Given the description of an element on the screen output the (x, y) to click on. 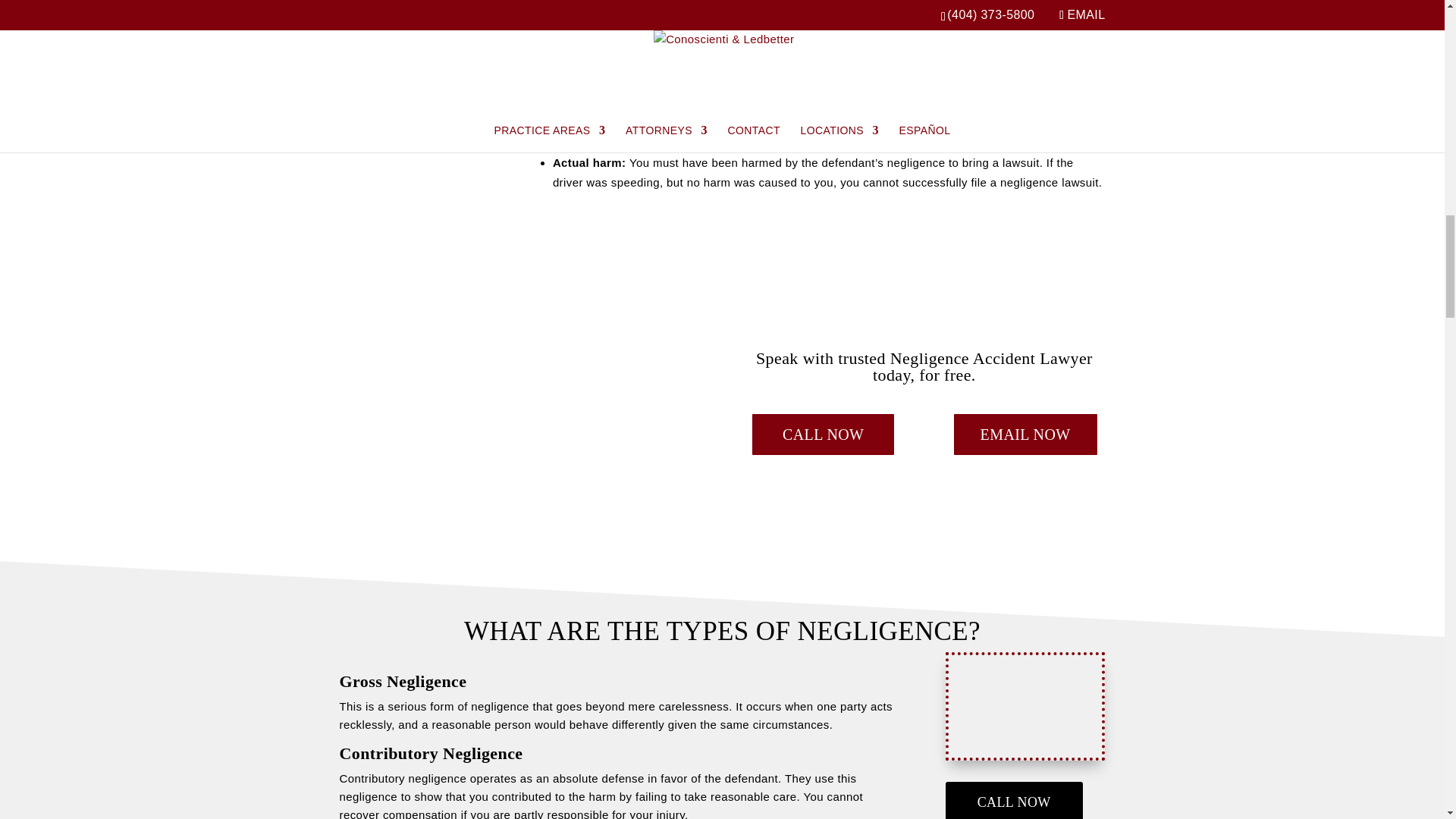
What Are the Types of Negligence (1025, 706)
What Are the Elements of a Negligence Claim (419, 9)
